Given the description of an element on the screen output the (x, y) to click on. 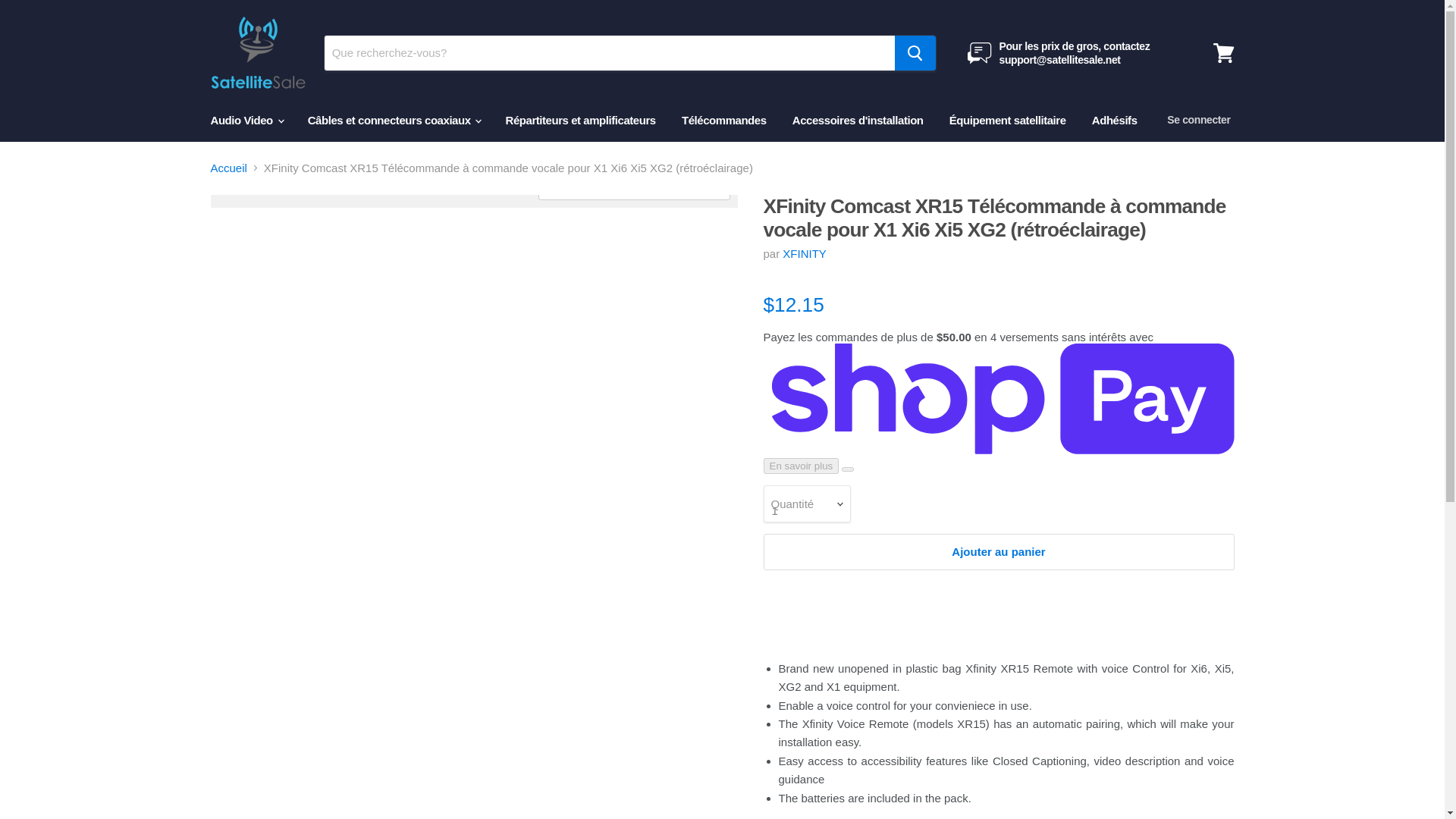
Accessoires d'installation (857, 119)
Voir le panier (1223, 53)
Audio Video (245, 119)
Accueil (229, 167)
XFINITY (805, 253)
Se connecter (1198, 119)
